Given the description of an element on the screen output the (x, y) to click on. 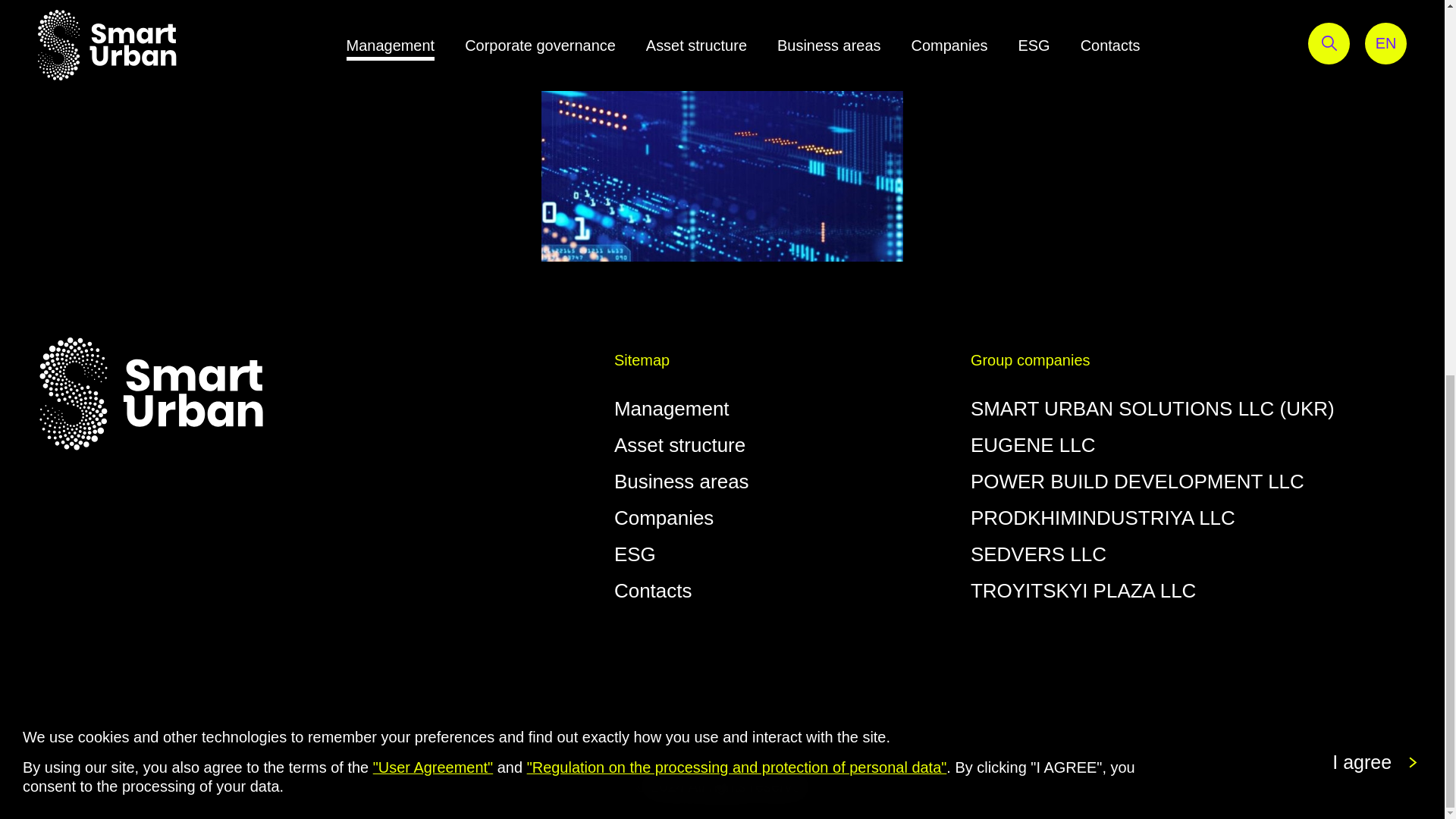
Companies (663, 517)
ESG (635, 553)
Asset structure (679, 445)
EUGENE LLC (1033, 445)
Contacts (653, 590)
POWER BUILD DEVELOPMENT LLC (1137, 481)
Business areas (681, 481)
Smart Corporate Service (721, 130)
